Given the description of an element on the screen output the (x, y) to click on. 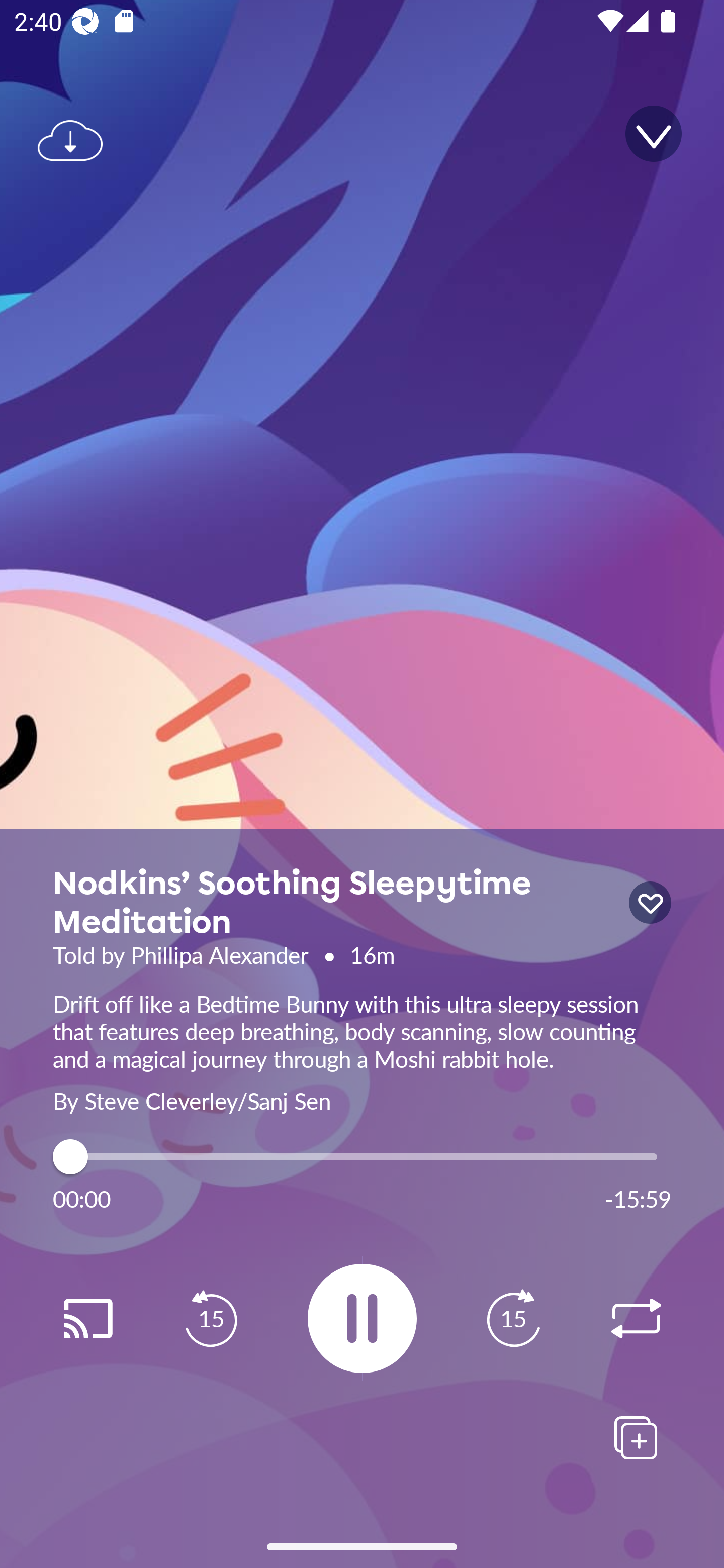
lock icon (650, 902)
3.125E-6 Pause (361, 1317)
Replay (87, 1318)
Replay 15 (210, 1318)
Replay 15 (513, 1318)
Replay (635, 1318)
Add To Playlists (635, 1437)
